Given the description of an element on the screen output the (x, y) to click on. 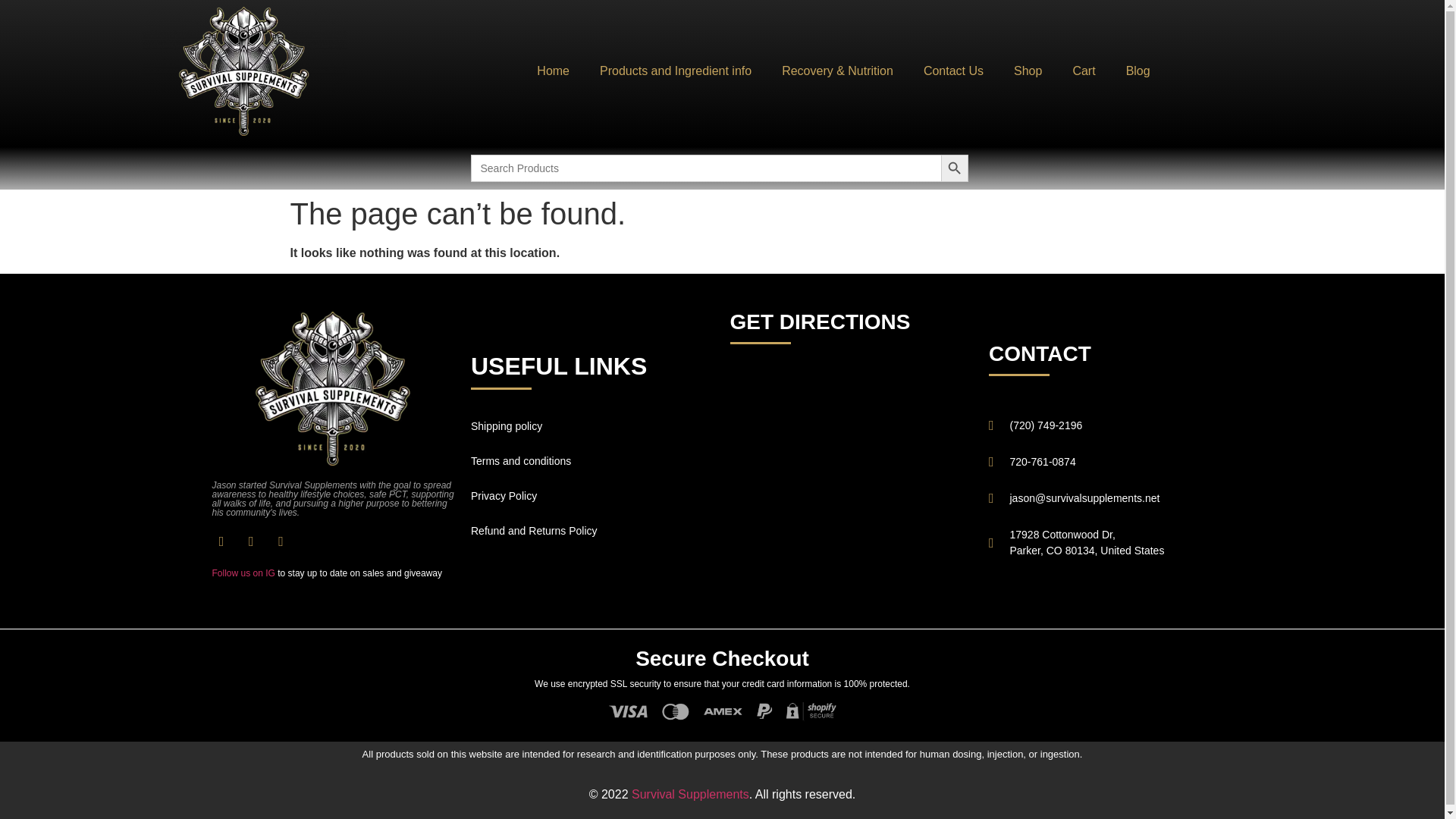
Blog (1138, 71)
Privacy Policy (592, 495)
Products and Ingredient info (676, 71)
Home (553, 71)
Terms and conditions (592, 460)
Search Button (954, 167)
Shipping policy (592, 425)
Refund and Returns Policy (592, 530)
Contact Us (953, 71)
Survival Supplements (690, 793)
